Given the description of an element on the screen output the (x, y) to click on. 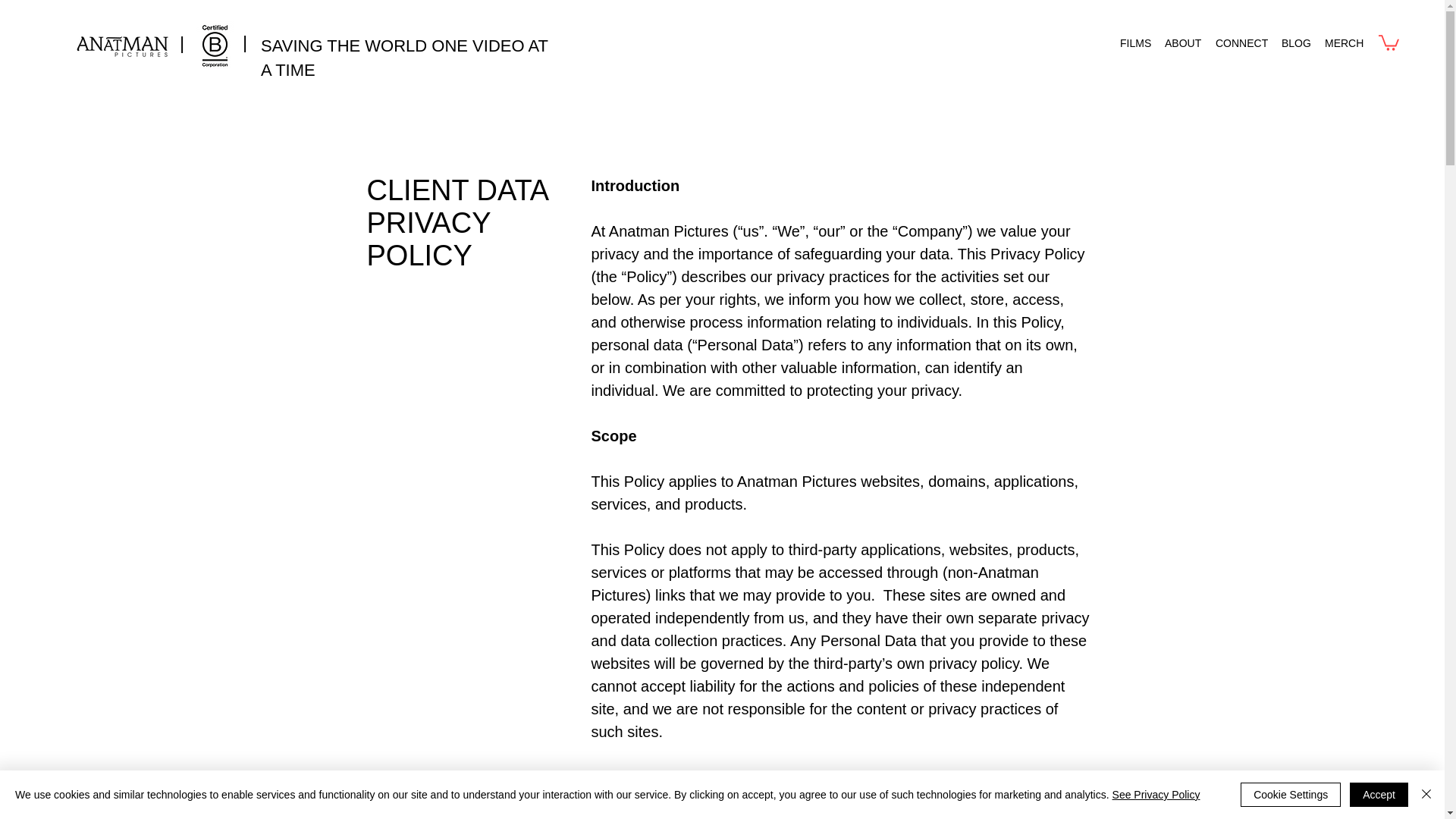
Cookie Settings (1290, 794)
MERCH (1343, 43)
BLOG (1295, 43)
See Privacy Policy (1155, 794)
Accept (1378, 794)
